Given the description of an element on the screen output the (x, y) to click on. 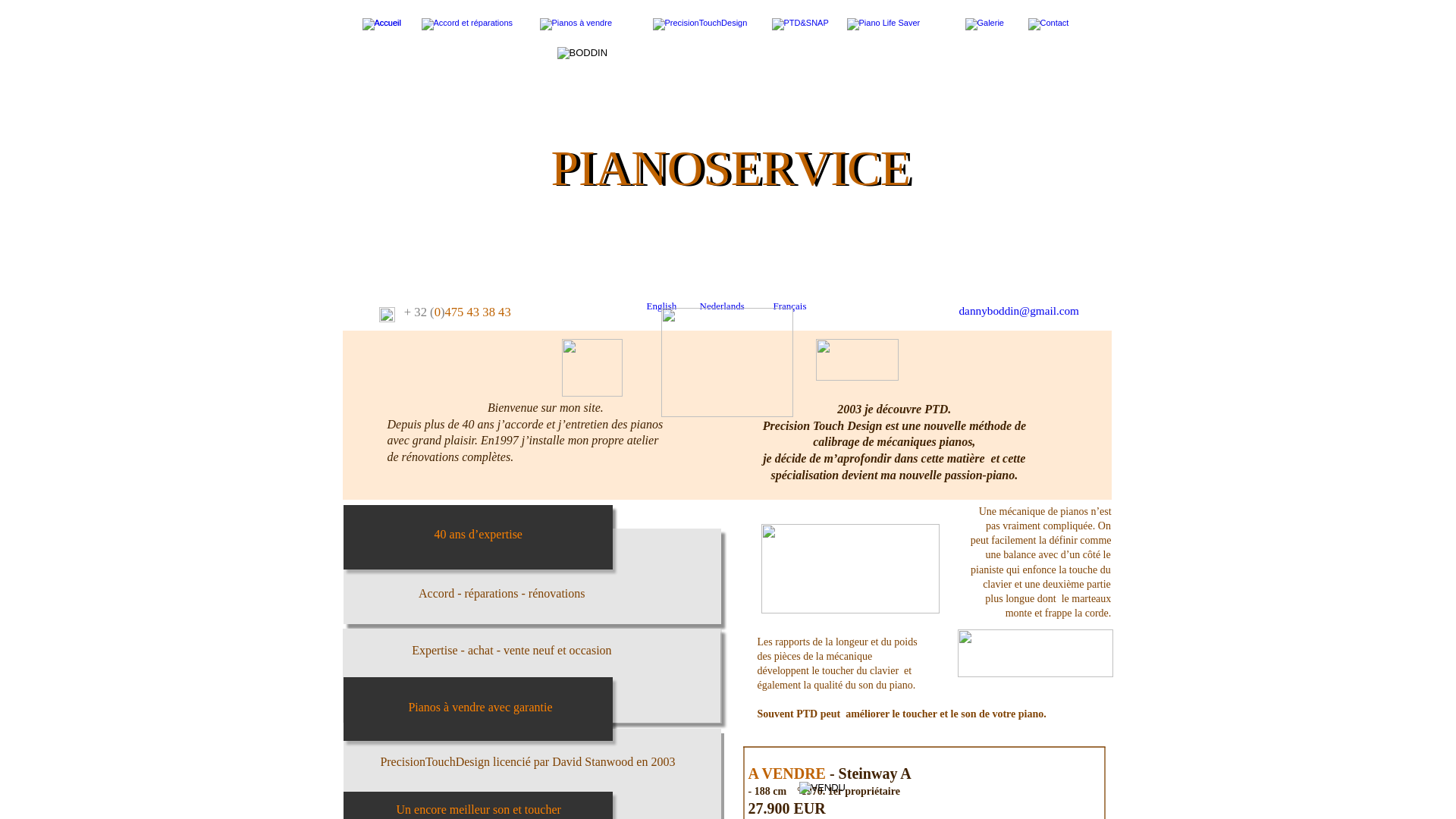
English Element type: text (661, 305)
  Element type: text (957, 310)
Nederlands Element type: text (721, 305)
      Element type: text (950, 311)
  Element type: text (942, 310)
dannyboddin@gmail.com Element type: text (1018, 310)
